Given the description of an element on the screen output the (x, y) to click on. 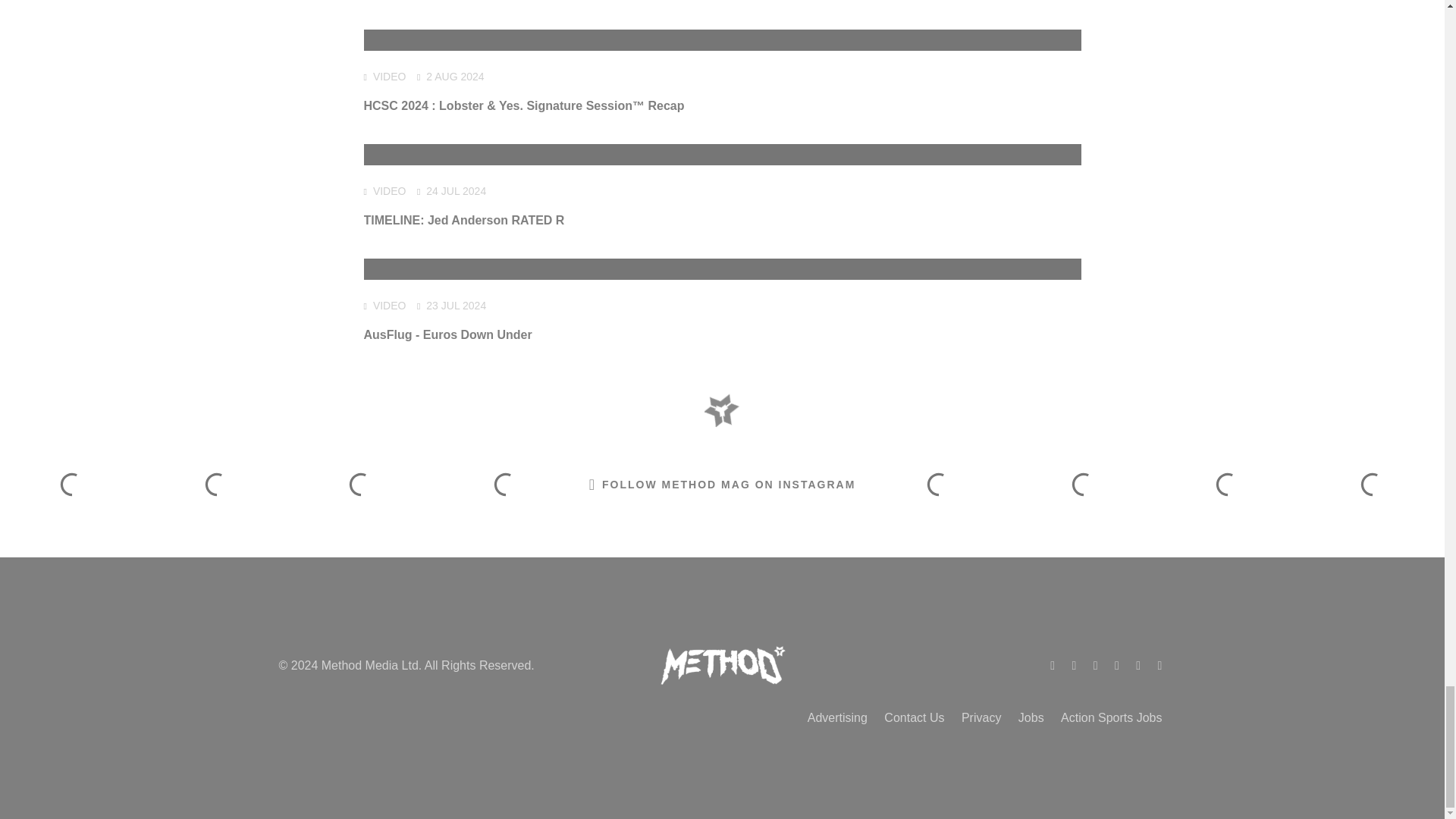
AusFlug - Euros Down Under (448, 334)
AusFlug - Euros Down Under (448, 334)
FOLLOW METHOD MAG ON INSTAGRAM (721, 484)
TIMELINE: Jed Anderson RATED R (464, 219)
TIMELINE: Jed Anderson RATED R (464, 219)
Advertising (836, 717)
